Given the description of an element on the screen output the (x, y) to click on. 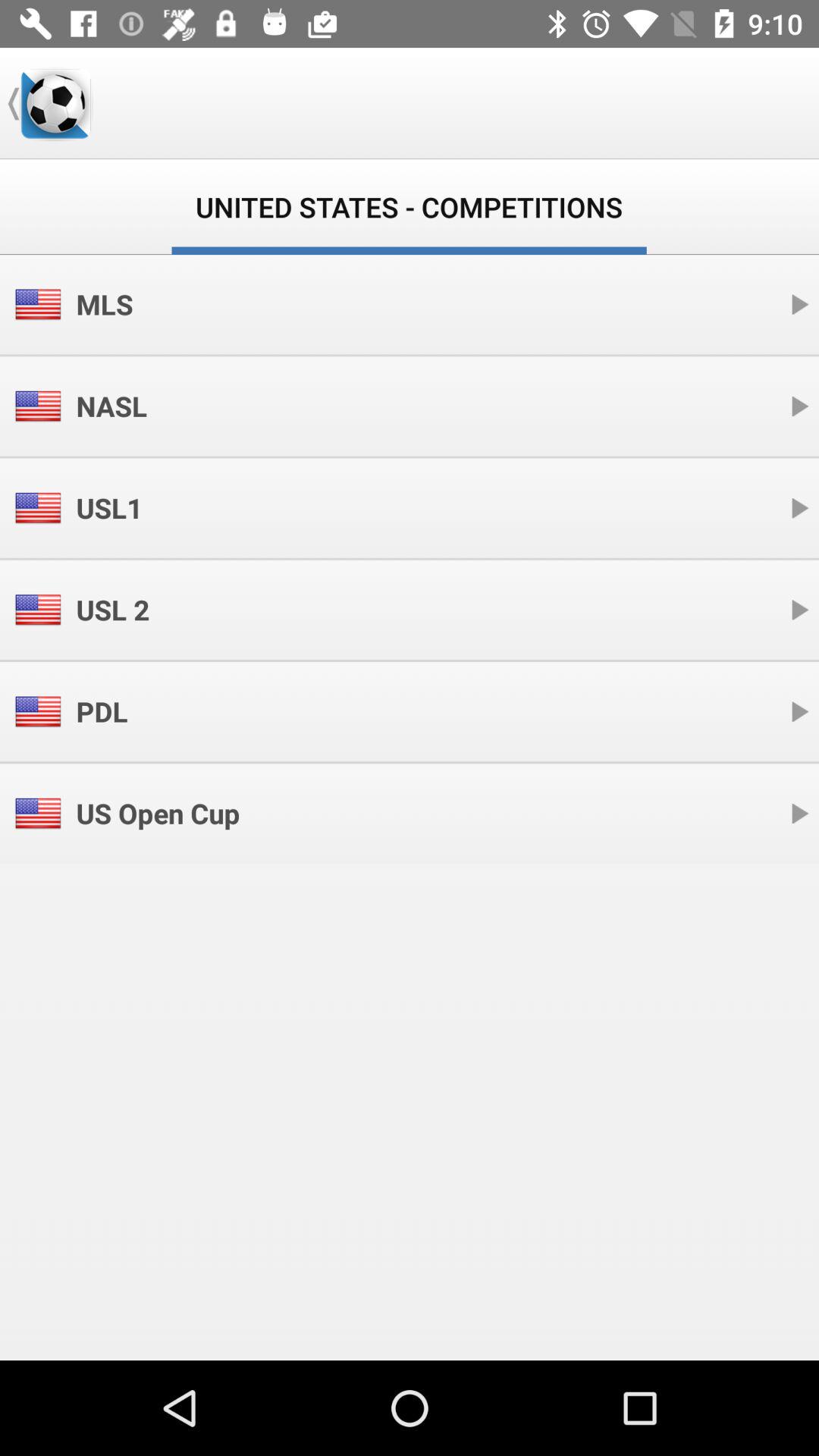
select the item below the usl1 icon (112, 609)
